Given the description of an element on the screen output the (x, y) to click on. 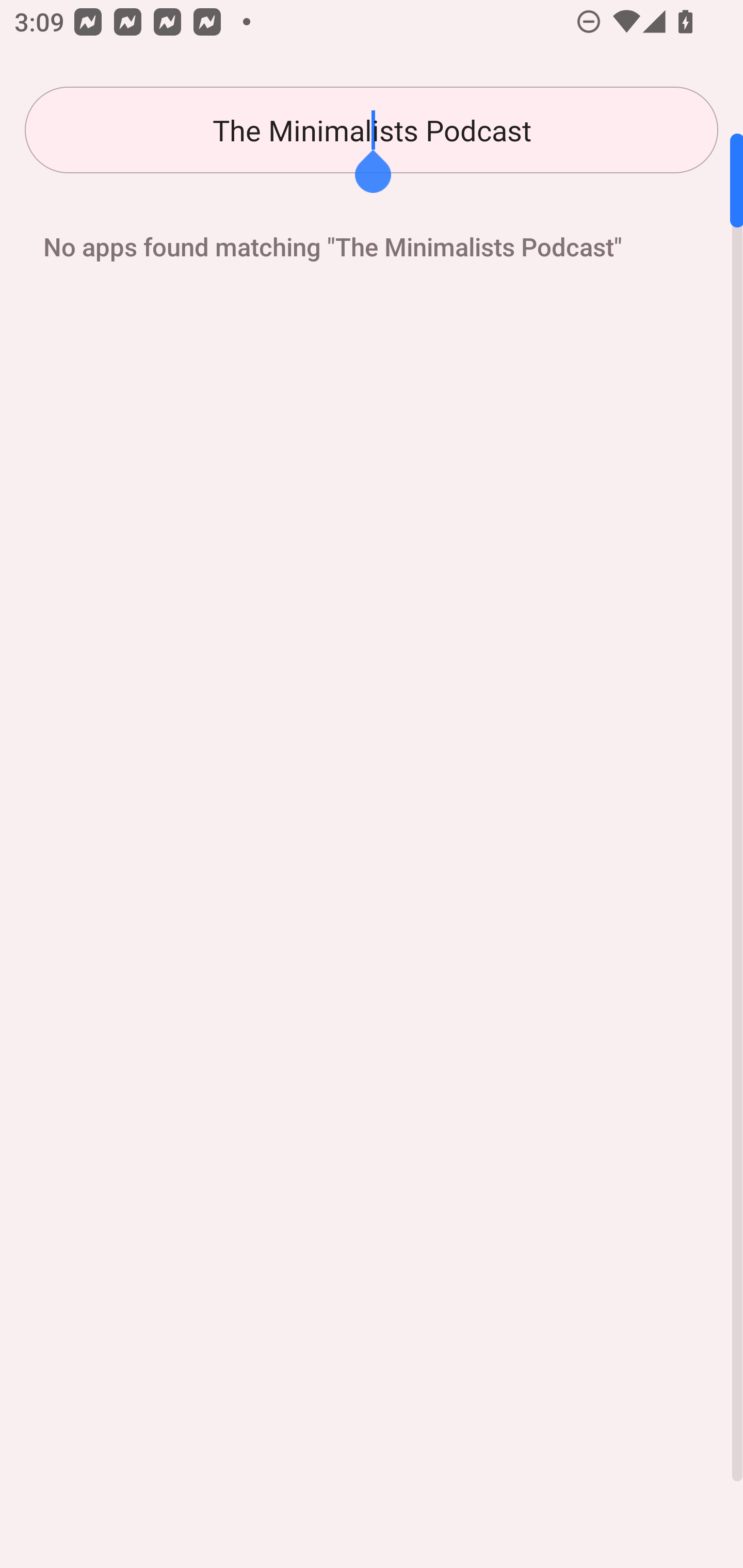
The Minimalists Podcast (371, 130)
